Given the description of an element on the screen output the (x, y) to click on. 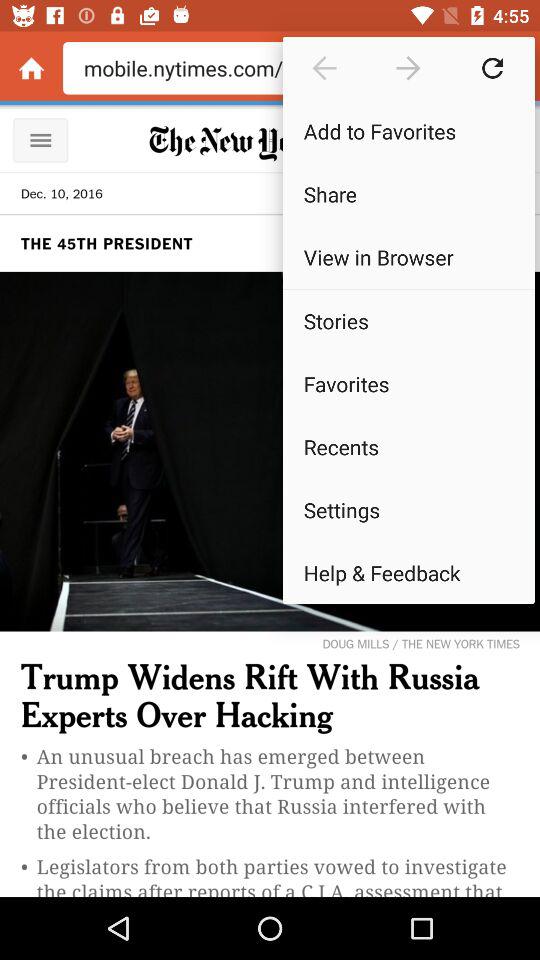
move forward (408, 67)
